Given the description of an element on the screen output the (x, y) to click on. 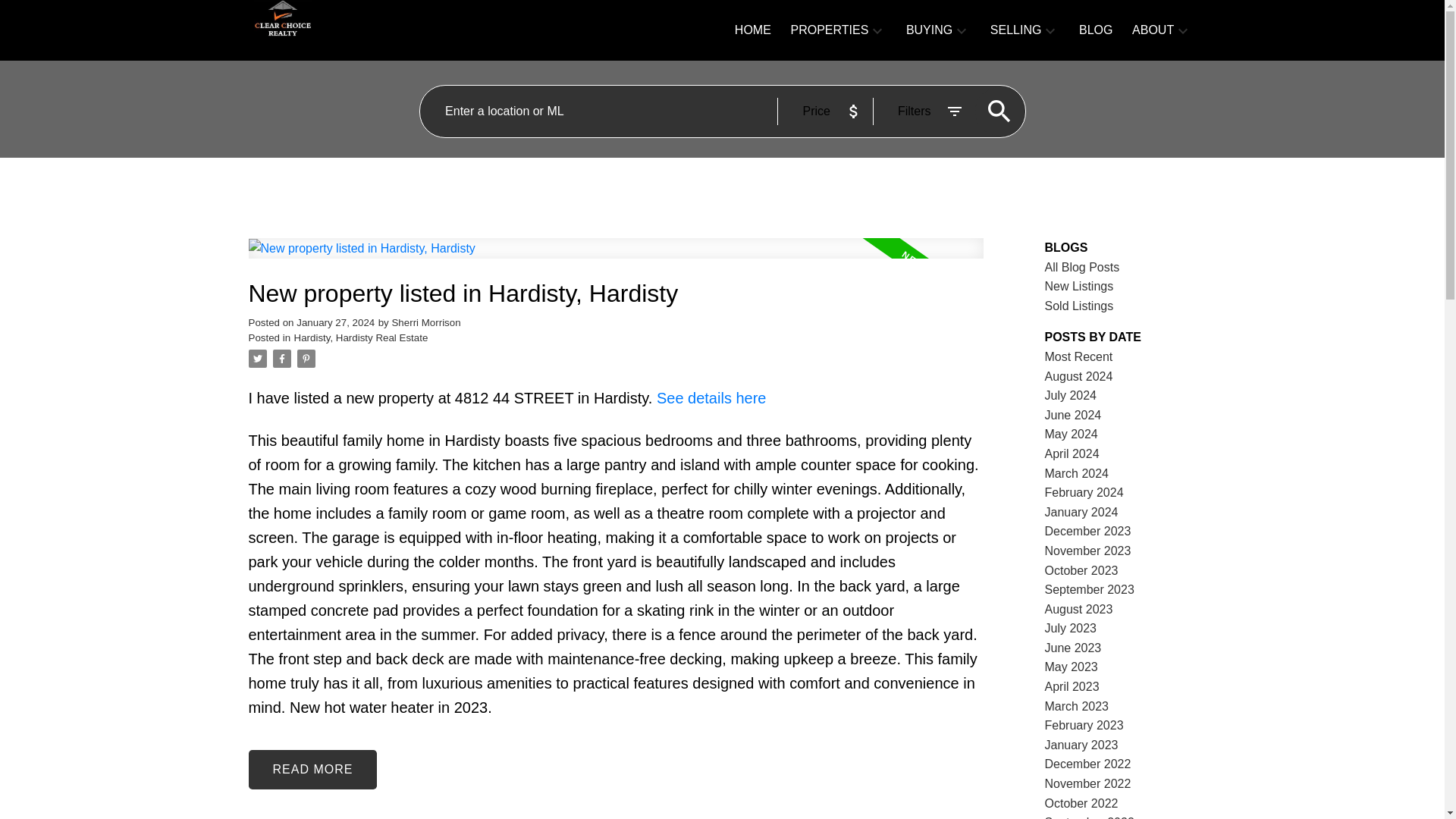
Hardisty, Hardisty Real Estate (361, 337)
BLOG (1095, 30)
HOME (753, 30)
New property listed in Hardisty, Hardisty (616, 293)
READ (312, 769)
Read full post (616, 257)
See details here (711, 397)
